Given the description of an element on the screen output the (x, y) to click on. 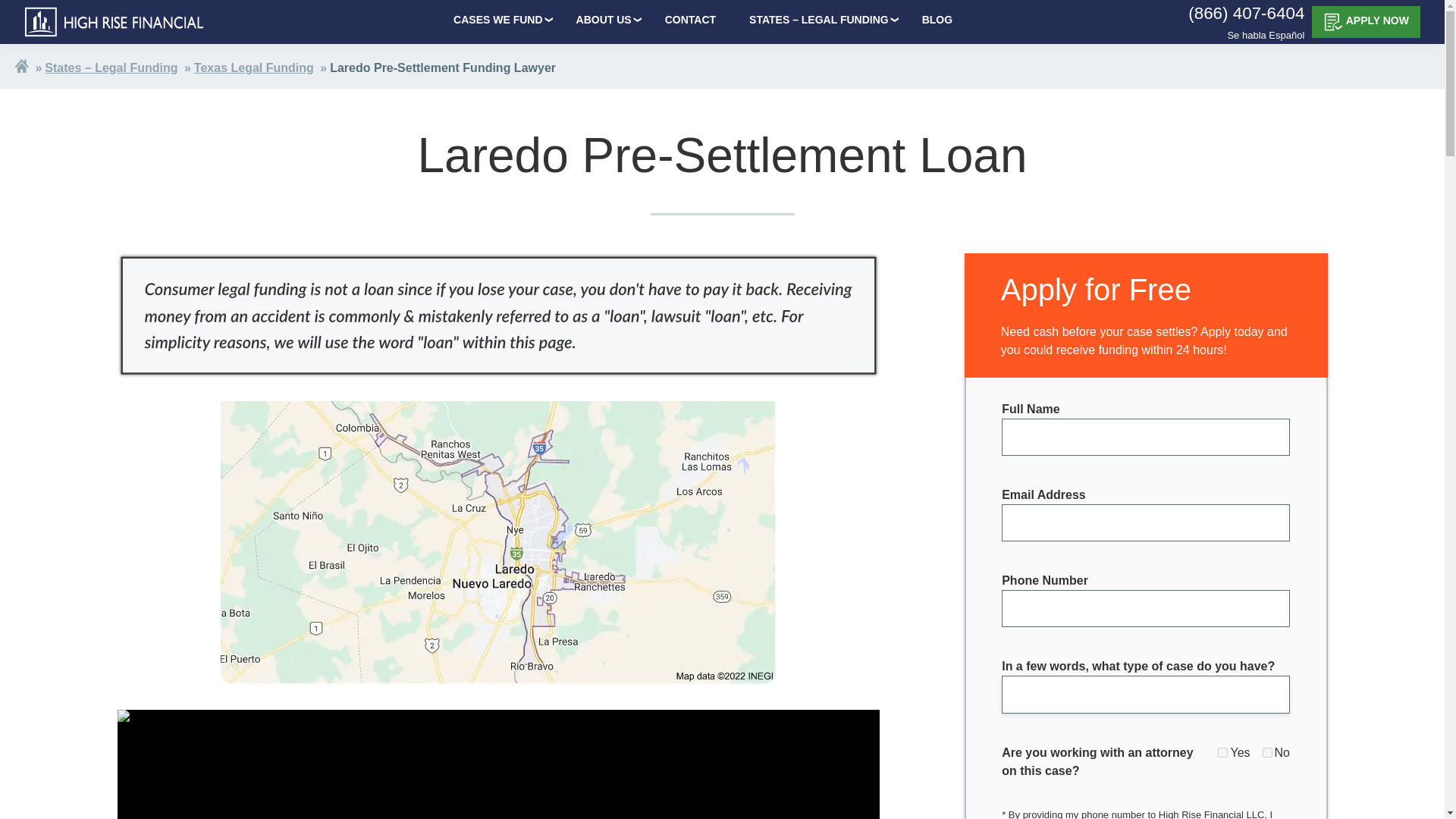
CASES WE FUND (497, 19)
Yes (1222, 752)
High Rise Financial (115, 21)
Laredo Lawsuit Funding (497, 764)
No (1267, 752)
